Given the description of an element on the screen output the (x, y) to click on. 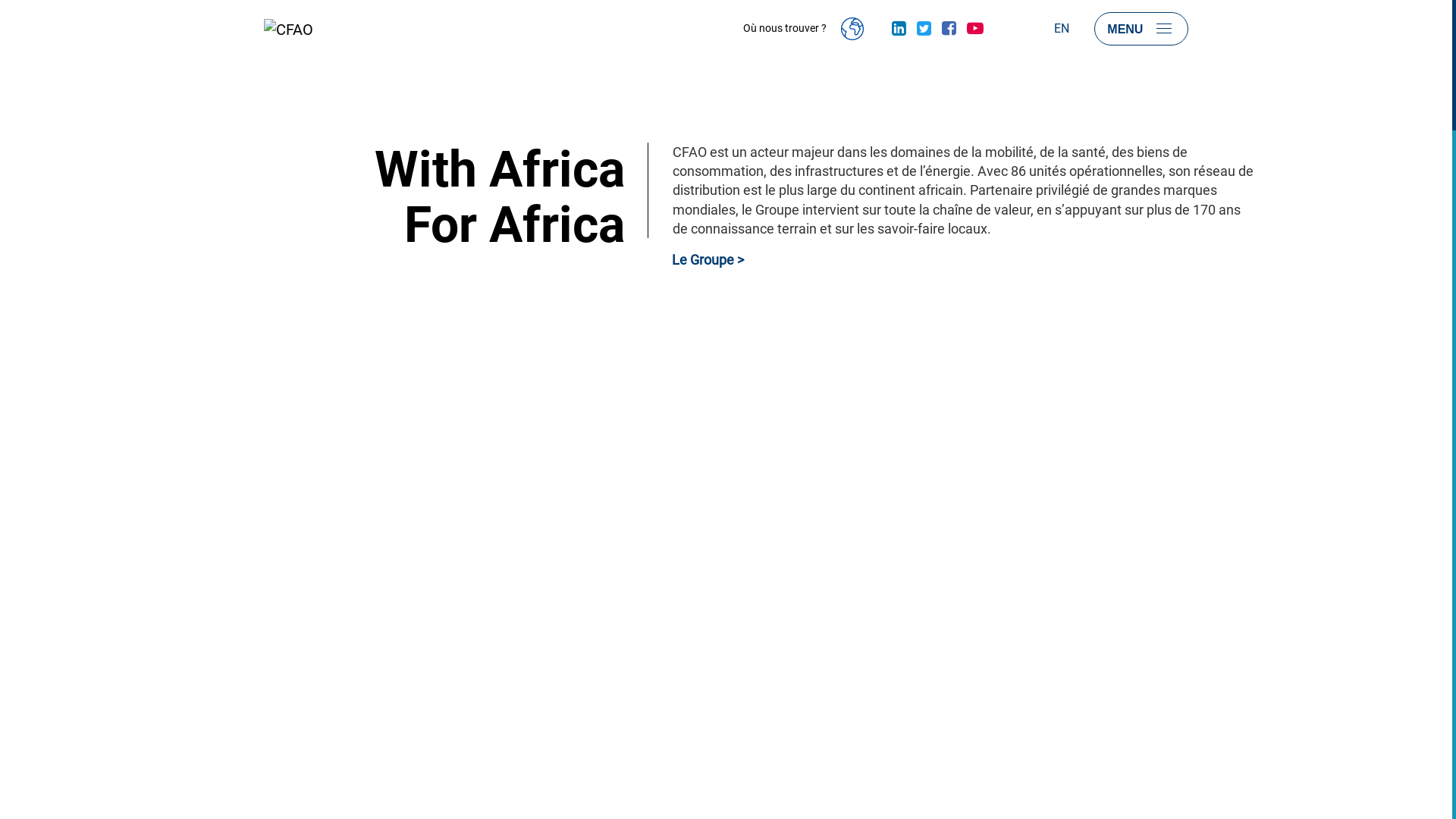
Le Groupe > Element type: text (707, 259)
MENU Element type: text (1140, 28)
Suivez-nous sur Twitter Element type: hover (923, 27)
Suivez-nous sur Youtube Element type: hover (974, 27)
Suivez-nous sur Linkedin Element type: hover (898, 27)
Rechercher Element type: hover (1020, 28)
Suivez-nous sur Facebook Element type: hover (948, 27)
EN Element type: text (1061, 28)
